Given the description of an element on the screen output the (x, y) to click on. 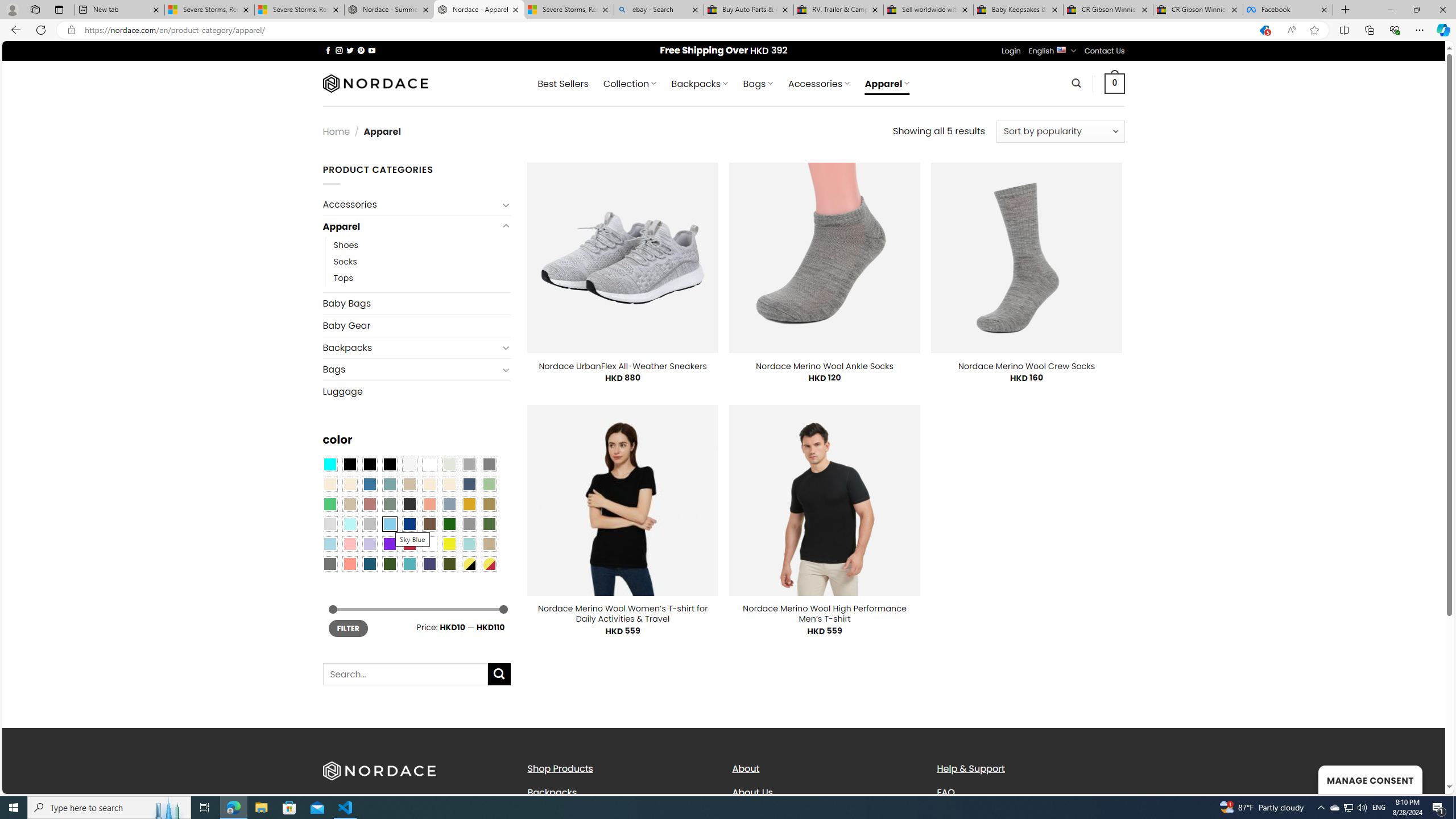
 Best Sellers (562, 83)
About Us (752, 792)
Yellow-Black (468, 563)
Submit (499, 674)
Yellow (449, 543)
Cream (449, 483)
Khaki (488, 543)
Light Green (488, 483)
Shoes (422, 245)
Kelp (488, 503)
Caramel (429, 483)
